Given the description of an element on the screen output the (x, y) to click on. 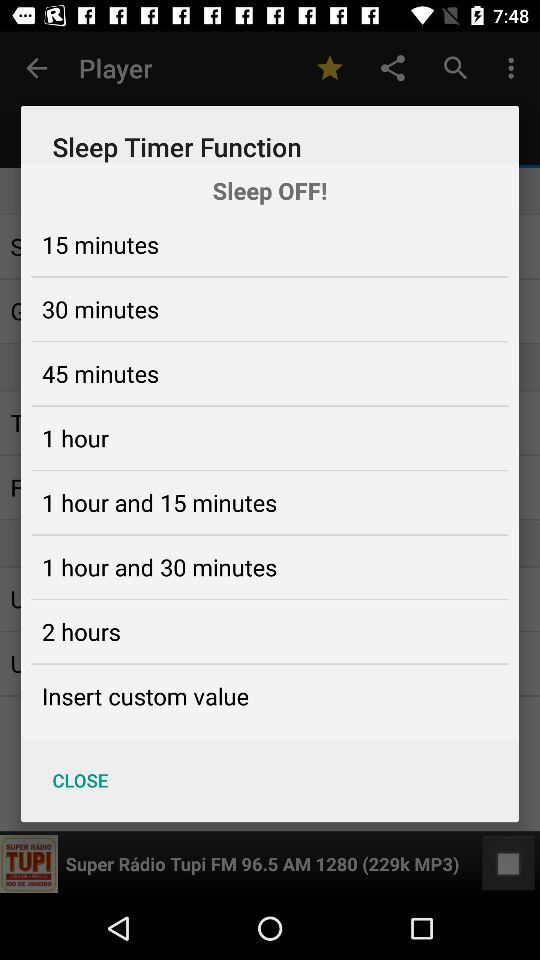
scroll to the insert custom value (145, 696)
